Given the description of an element on the screen output the (x, y) to click on. 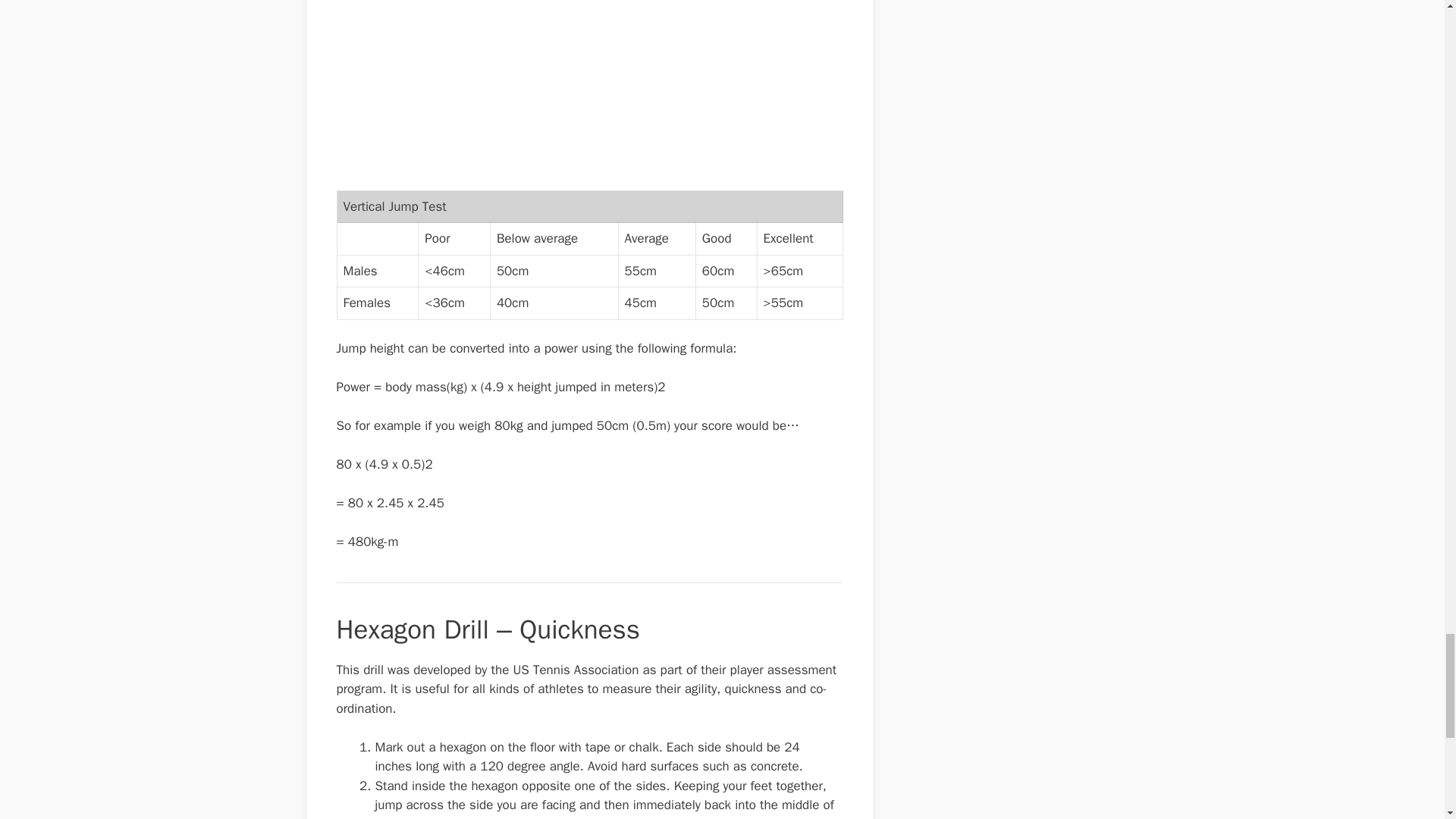
Vertical jump test scores (464, 92)
